Given the description of an element on the screen output the (x, y) to click on. 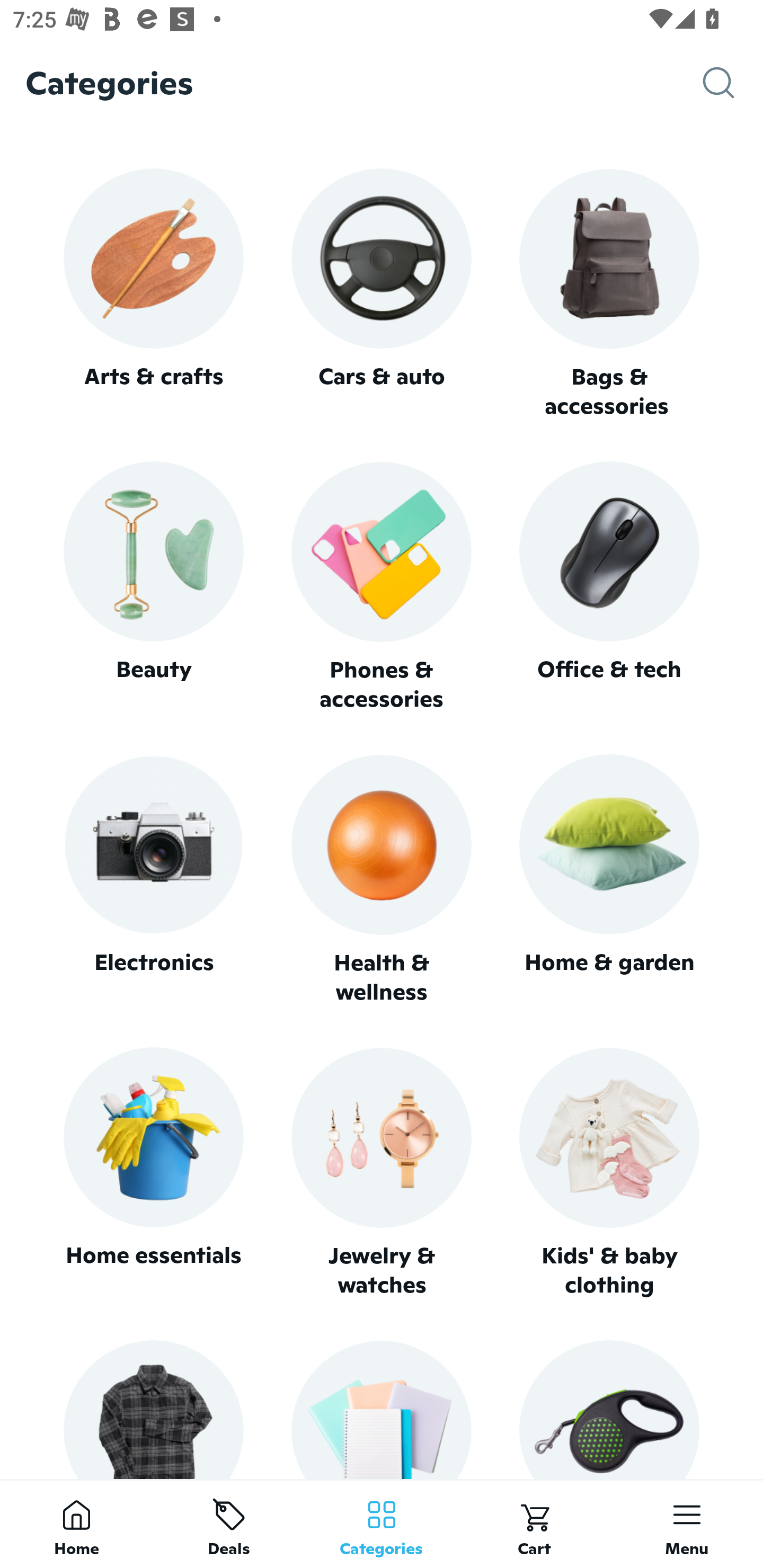
Search (732, 82)
Arts & crafts (153, 293)
Cars & auto (381, 293)
Bags & accessories  (609, 294)
Beauty (153, 586)
Office & tech (609, 586)
Phones & accessories (381, 587)
Electronics (153, 880)
Home & garden (609, 880)
Health & wellness (381, 880)
Home essentials (153, 1172)
Jewelry & watches (381, 1172)
Kids' & baby clothing (609, 1172)
Men's clothing (153, 1409)
Pet supplies (609, 1409)
Office & school supplies (381, 1409)
Home (76, 1523)
Deals (228, 1523)
Categories (381, 1523)
Cart (533, 1523)
Menu (686, 1523)
